Given the description of an element on the screen output the (x, y) to click on. 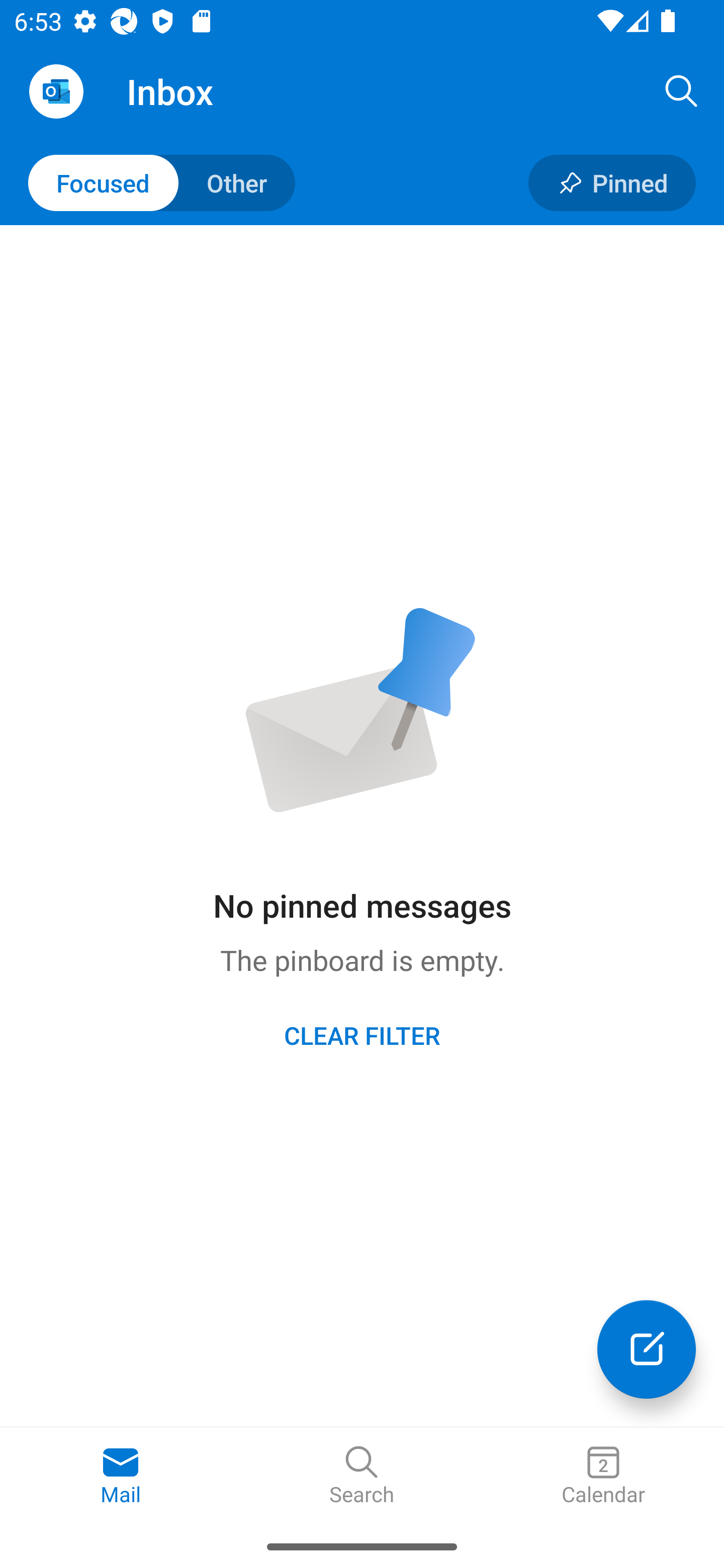
Search (681, 90)
Open Navigation Drawer (55, 91)
Toggle to other mails (161, 183)
CLEAR FILTER (361, 1034)
Compose (646, 1348)
Search (361, 1475)
Calendar (603, 1475)
